Given the description of an element on the screen output the (x, y) to click on. 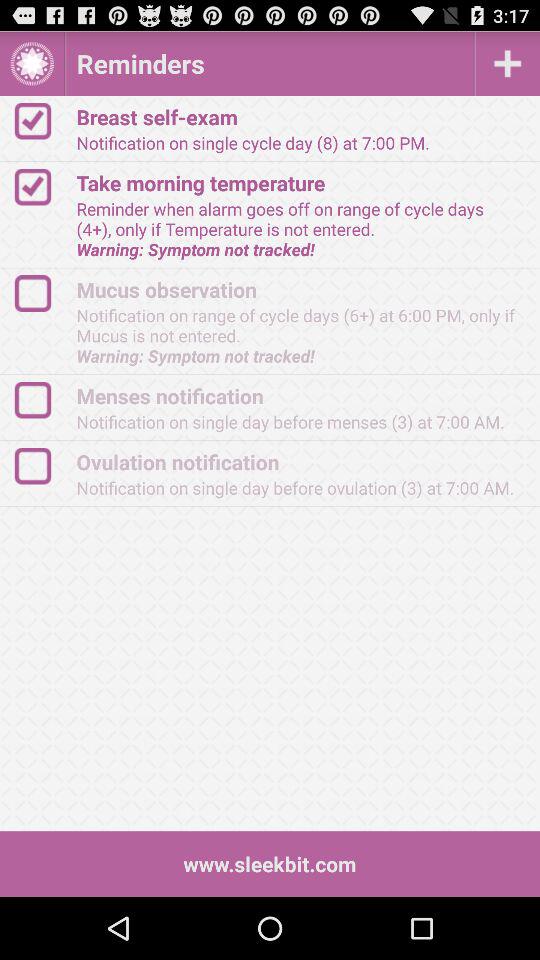
logo (41, 465)
